Given the description of an element on the screen output the (x, y) to click on. 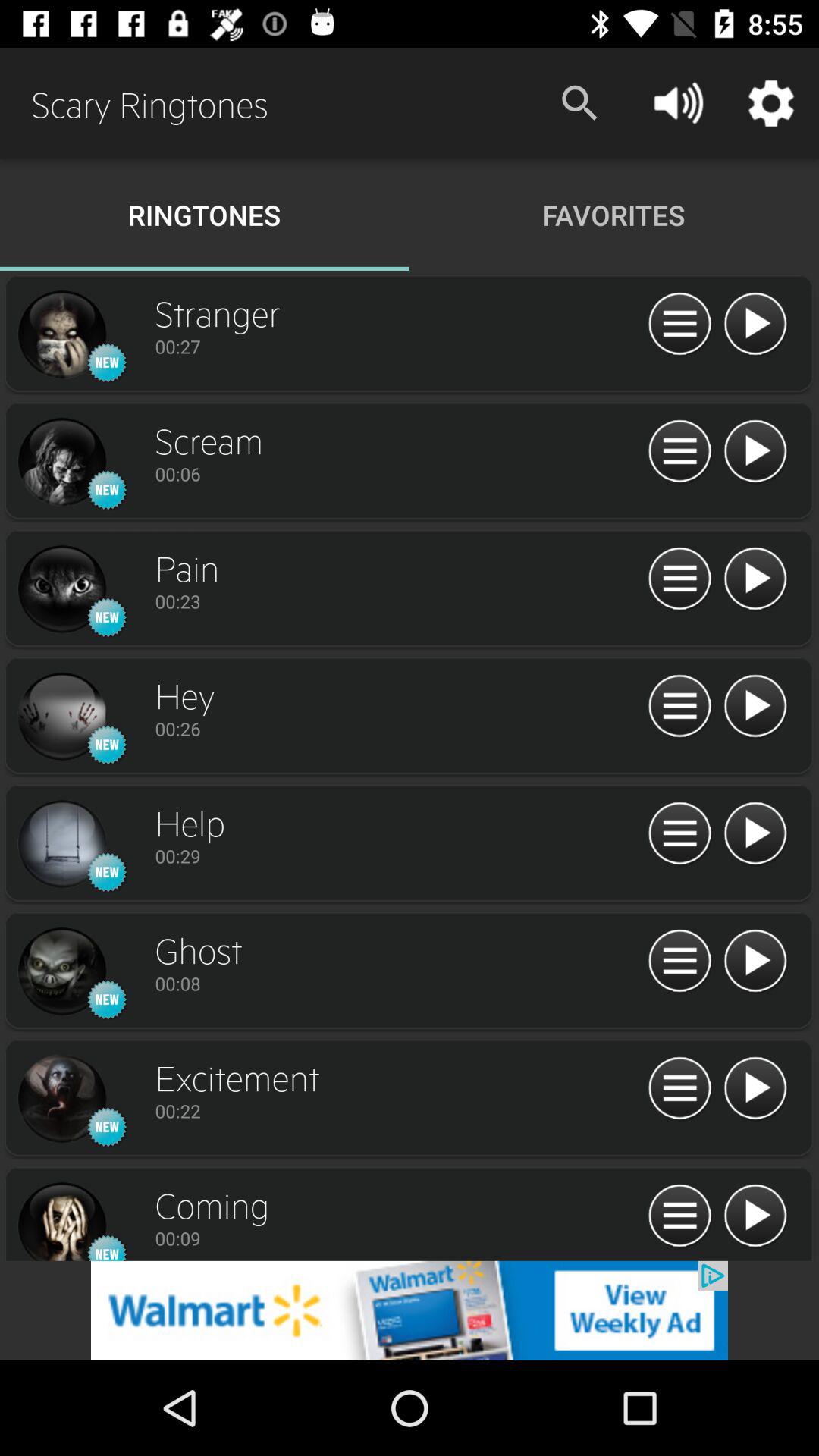
play (755, 451)
